Given the description of an element on the screen output the (x, y) to click on. 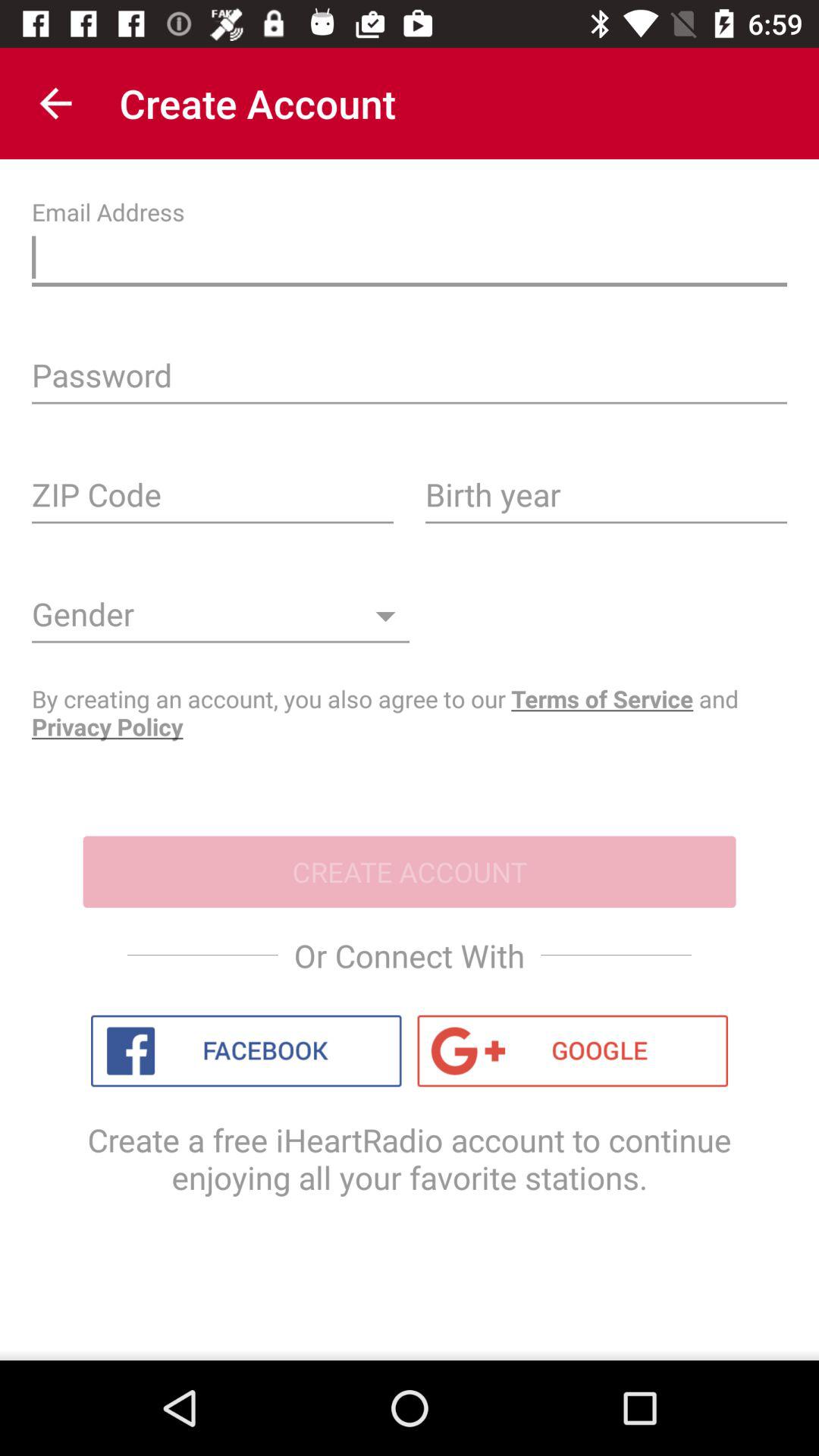
create an account using facebook profile (246, 1050)
